Given the description of an element on the screen output the (x, y) to click on. 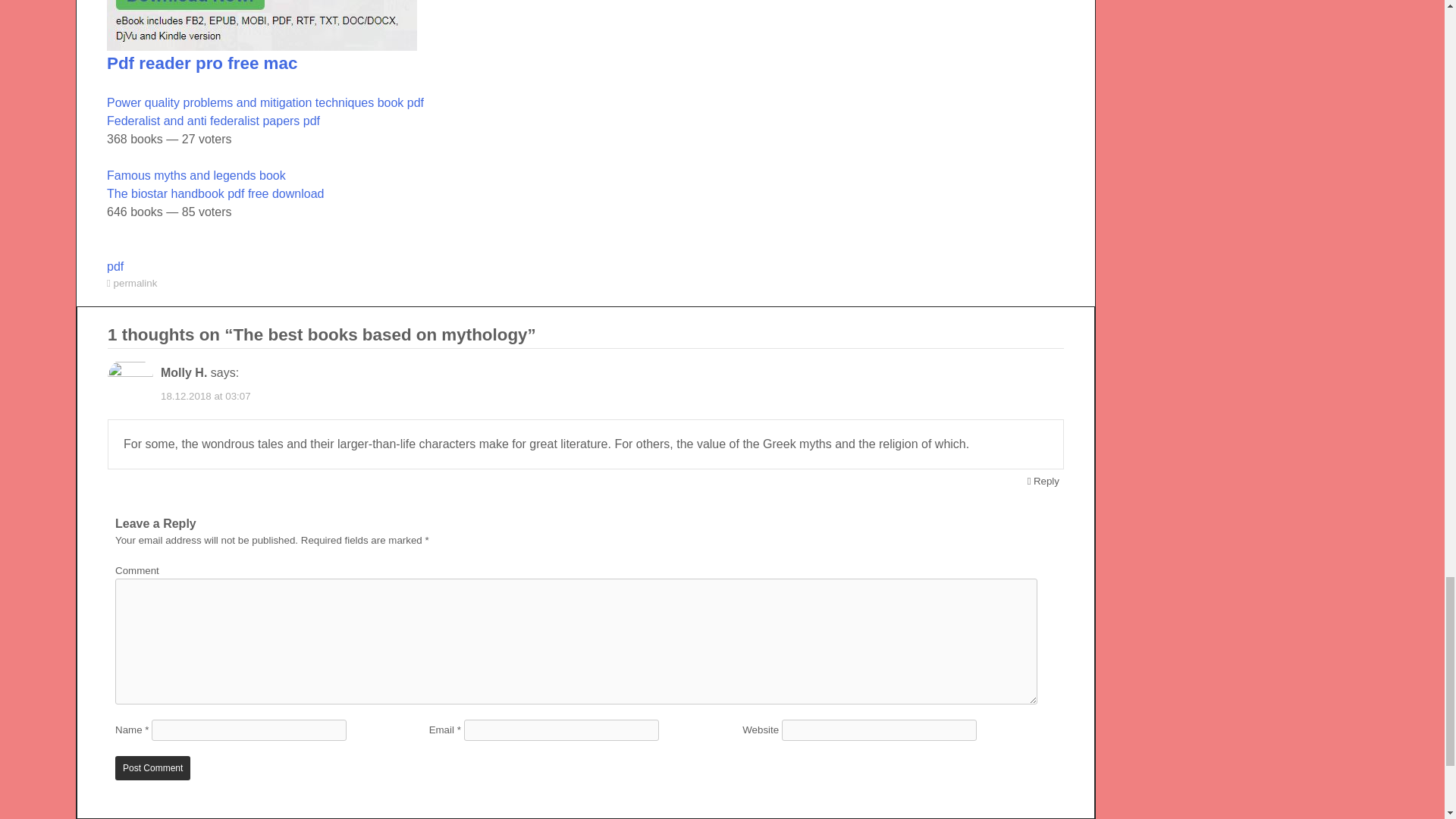
Reply (1043, 481)
Power quality problems and mitigation techniques book pdf (264, 111)
permalink (135, 283)
The biostar handbook pdf free download (214, 193)
Federalist and anti federalist papers pdf (213, 120)
pdf (114, 266)
Post Comment (152, 767)
Pdf reader pro free mac (201, 63)
18.12.2018 at 03:07 (205, 396)
Famous myths and legends book (195, 183)
Post Comment (152, 767)
